Given the description of an element on the screen output the (x, y) to click on. 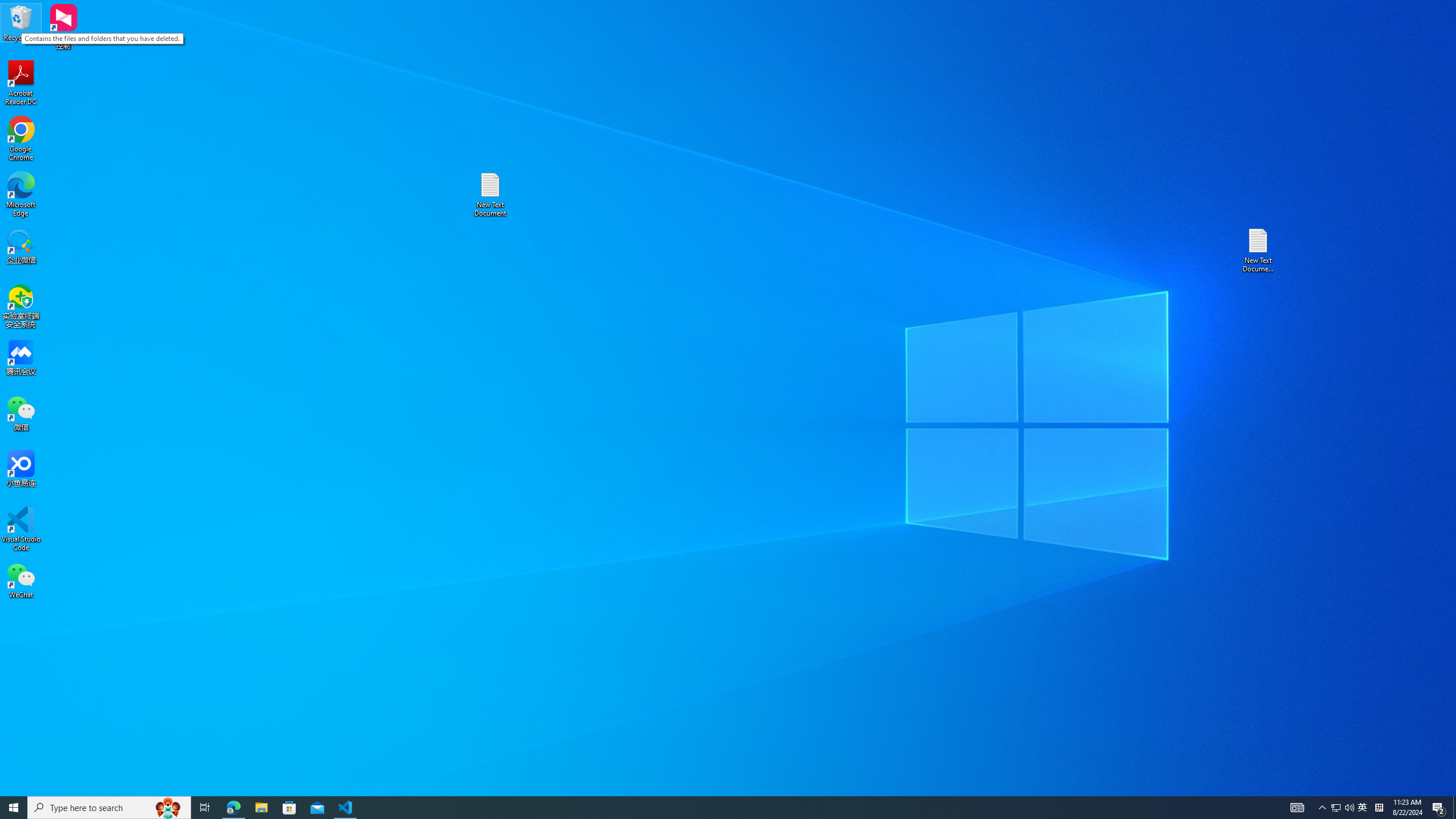
AutomationID: 4105 (1297, 807)
Recycle Bin (21, 22)
Action Center, 2 new notifications (1439, 807)
File Explorer (261, 807)
Start (13, 807)
Running applications (1335, 807)
Type here to search (707, 807)
Microsoft Edge (108, 807)
New Text Document (21, 194)
Tray Input Indicator - Chinese (Simplified, China) (489, 194)
Task View (1378, 807)
